Given the description of an element on the screen output the (x, y) to click on. 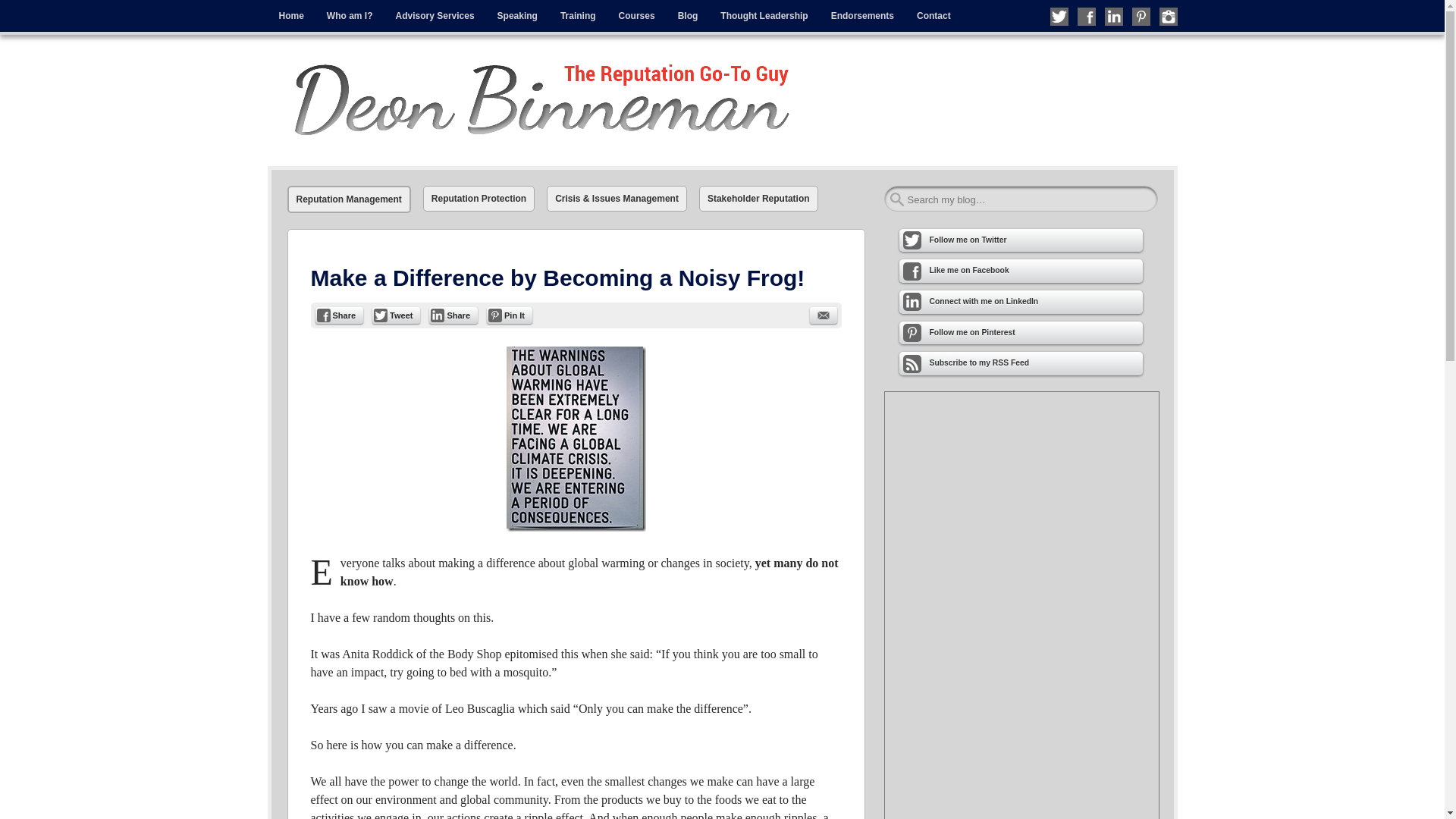
Courses (636, 15)
Follow me on Instagram (1167, 16)
My Story (349, 15)
Follow me on Pinterest (1140, 16)
Home (290, 15)
Connect with me on LinkedIn (1112, 16)
Endorsements (862, 15)
Who am I? (349, 15)
Training (577, 15)
Book Me To Present At Your Next Event! (517, 15)
